Given the description of an element on the screen output the (x, y) to click on. 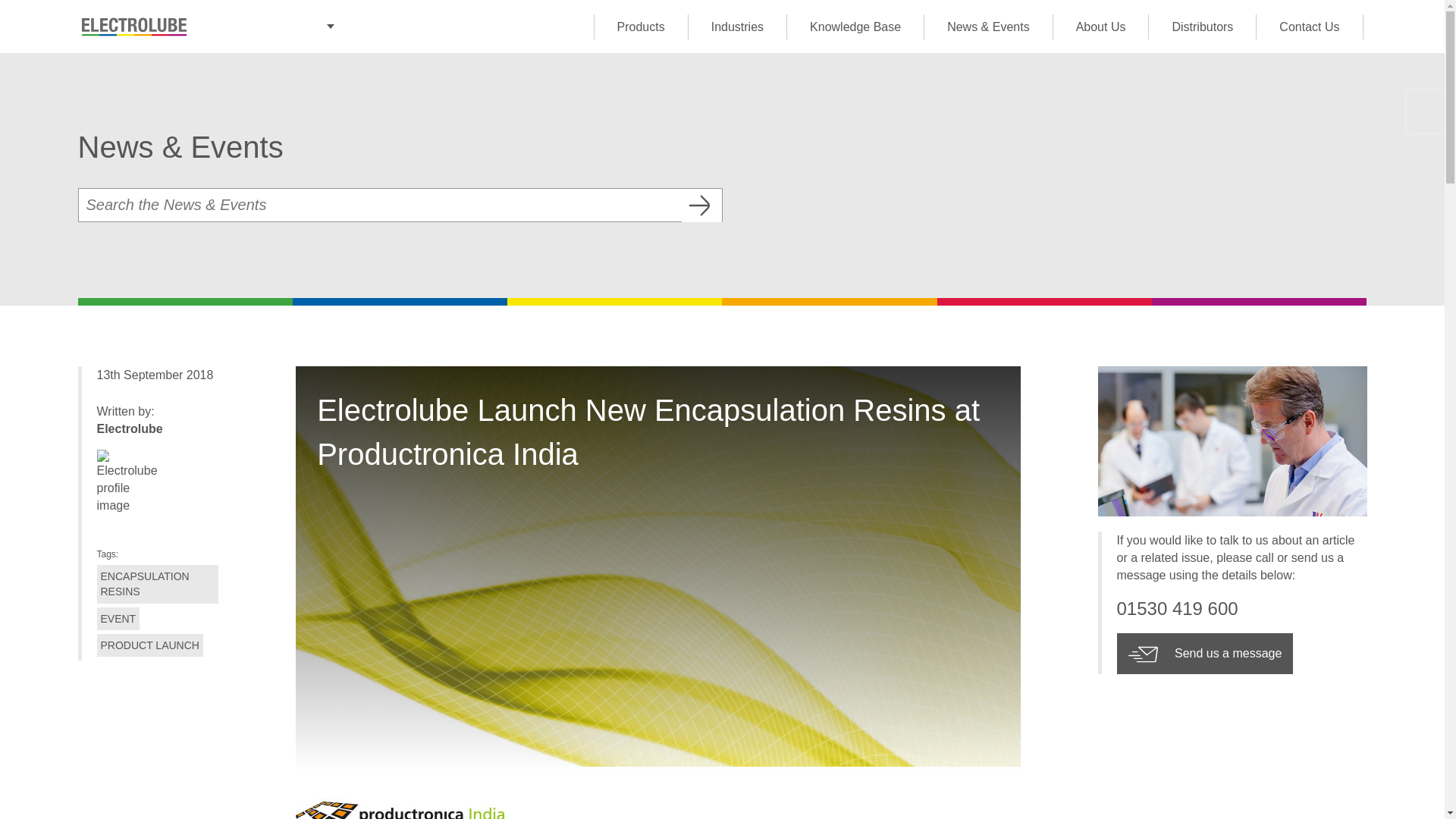
Go (700, 205)
Industries (736, 25)
Products (640, 25)
Send us a message (1204, 653)
About Us (1100, 25)
Knowledge Base (854, 25)
Contact Us (1308, 25)
call us (1241, 609)
Distributors (1201, 25)
